Given the description of an element on the screen output the (x, y) to click on. 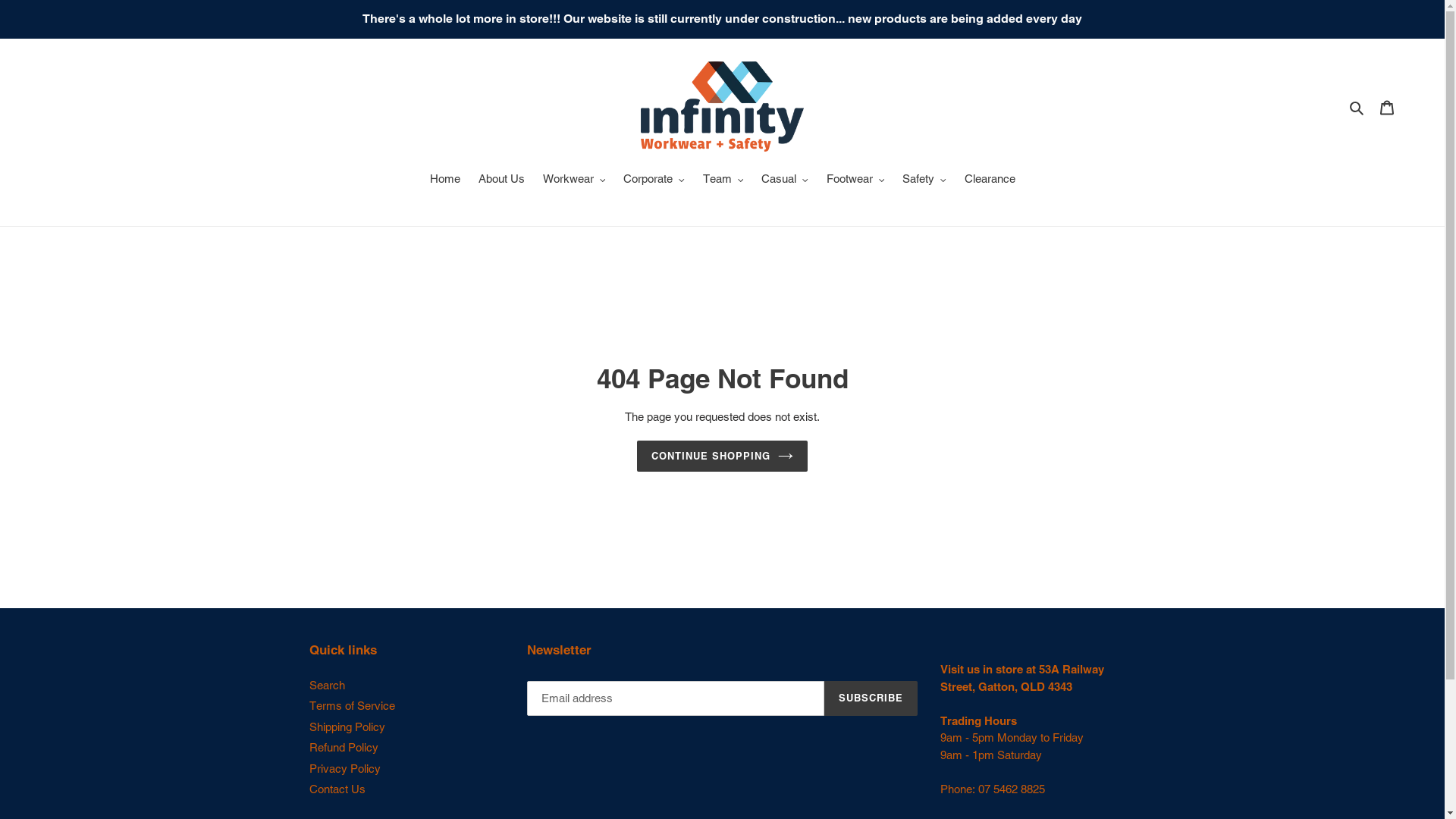
Cart Element type: text (1386, 106)
About Us Element type: text (500, 180)
Terms of Service Element type: text (352, 705)
Shipping Policy Element type: text (347, 725)
Clearance Element type: text (989, 180)
Refund Policy Element type: text (343, 746)
Search Element type: text (1357, 106)
Search Element type: text (327, 683)
Team Element type: text (722, 180)
Casual Element type: text (784, 180)
Privacy Policy Element type: text (344, 767)
SUBSCRIBE Element type: text (870, 697)
Safety Element type: text (923, 180)
CONTINUE SHOPPING Element type: text (722, 455)
Home Element type: text (444, 180)
Footwear Element type: text (855, 180)
Contact Us Element type: text (337, 788)
Corporate Element type: text (653, 180)
Workwear Element type: text (574, 180)
